Given the description of an element on the screen output the (x, y) to click on. 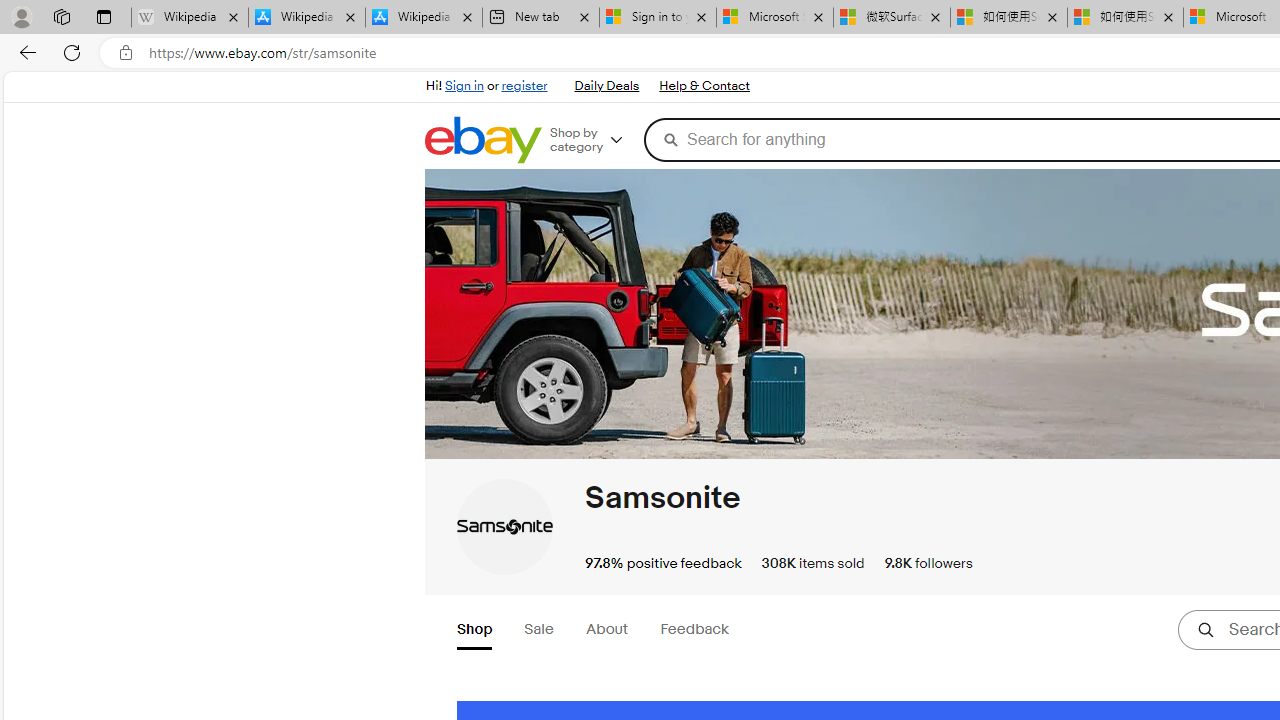
Daily Deals (606, 86)
Help & Contact (703, 85)
eBay Home (482, 139)
97.8% positive feedback (663, 562)
Sign in (464, 85)
Samsonite (662, 498)
Shop by category (593, 140)
